Given the description of an element on the screen output the (x, y) to click on. 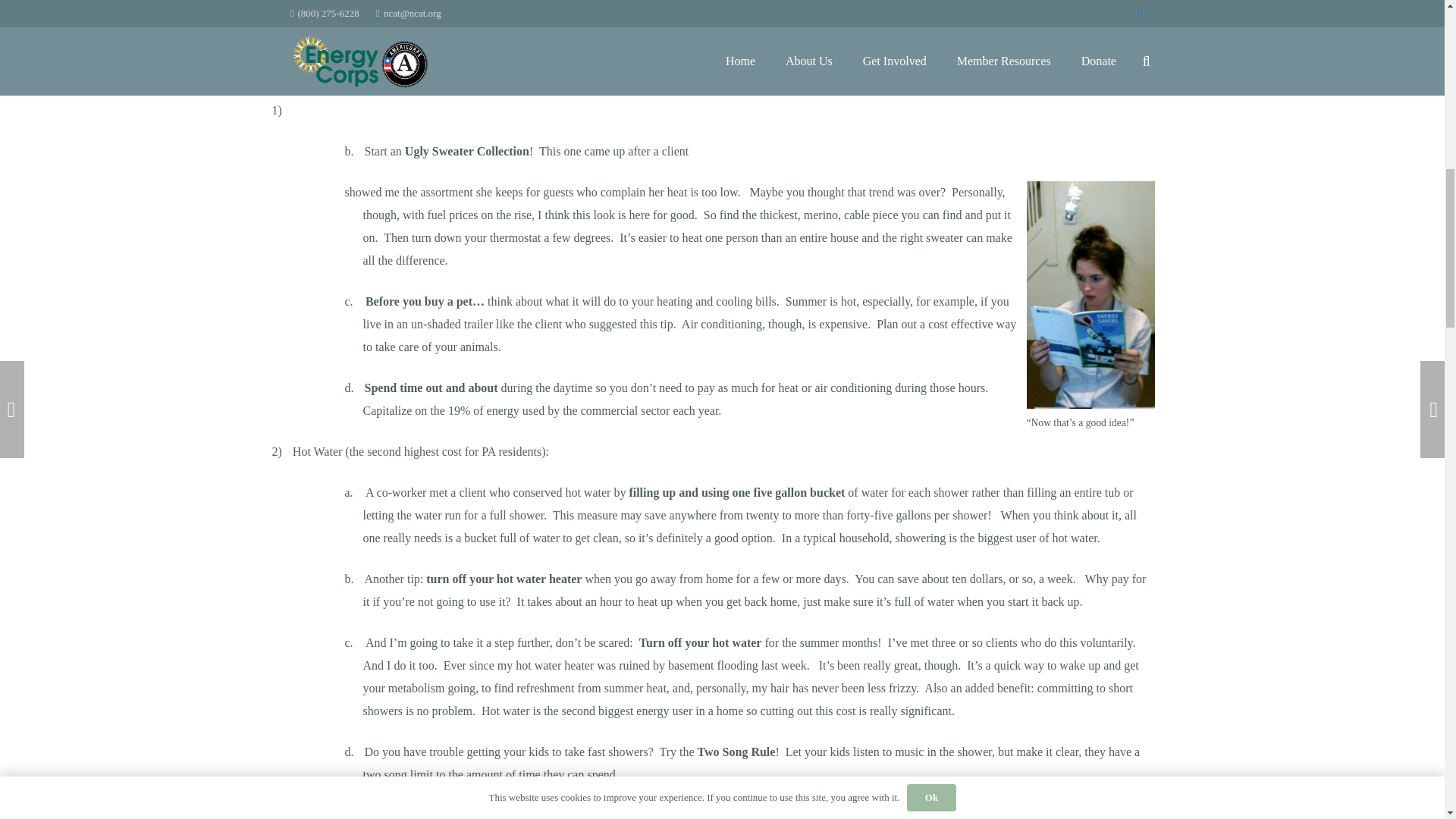
Back to top (1413, 26)
Conventional tips (644, 28)
